Given the description of an element on the screen output the (x, y) to click on. 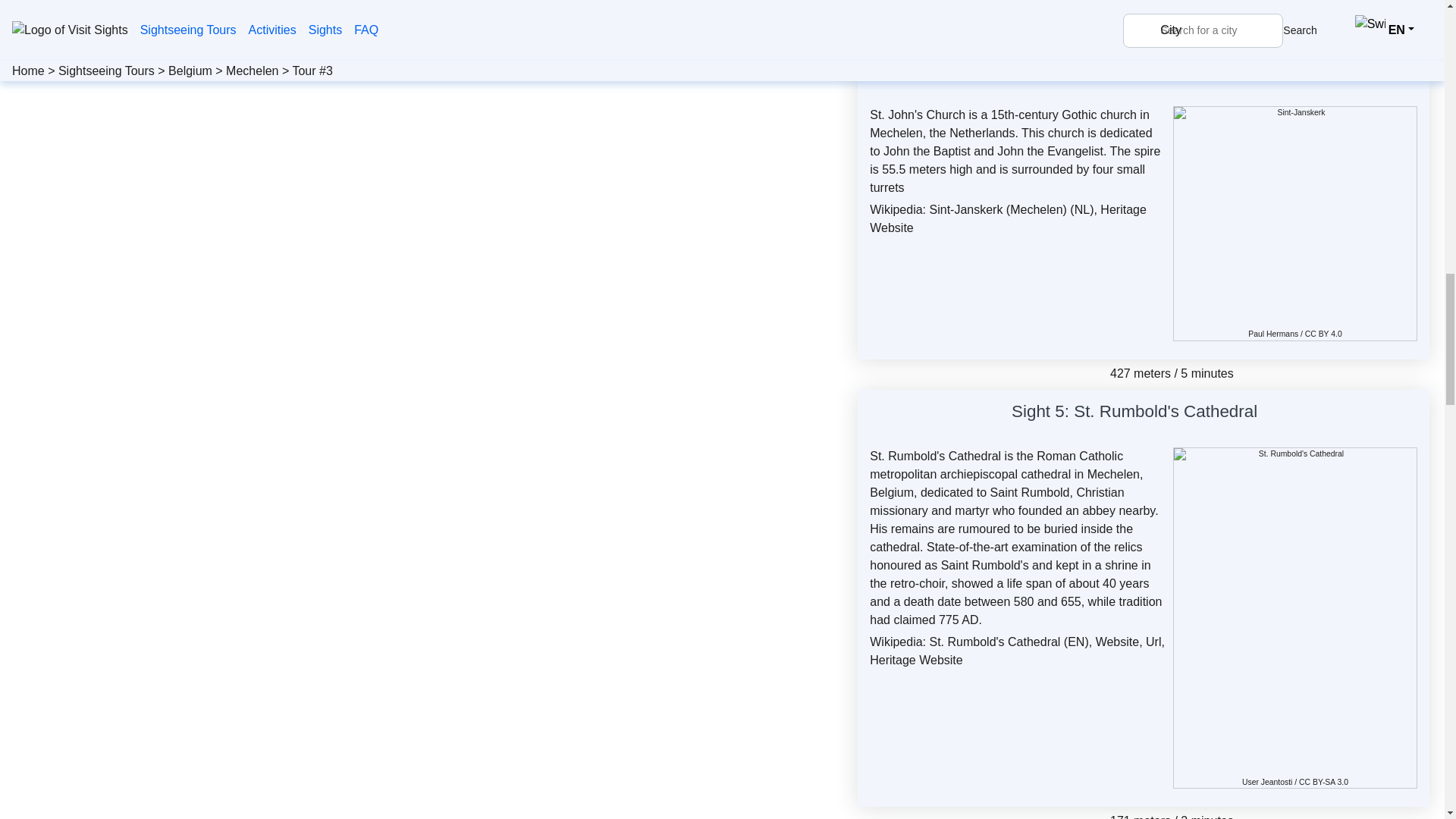
Show sight on map (1266, 413)
Show sight on map (1225, 72)
Paul Hermans (1272, 334)
User:Paul Hermans (1272, 334)
fr:Utilisateur:Jeantosti (1276, 782)
